Given the description of an element on the screen output the (x, y) to click on. 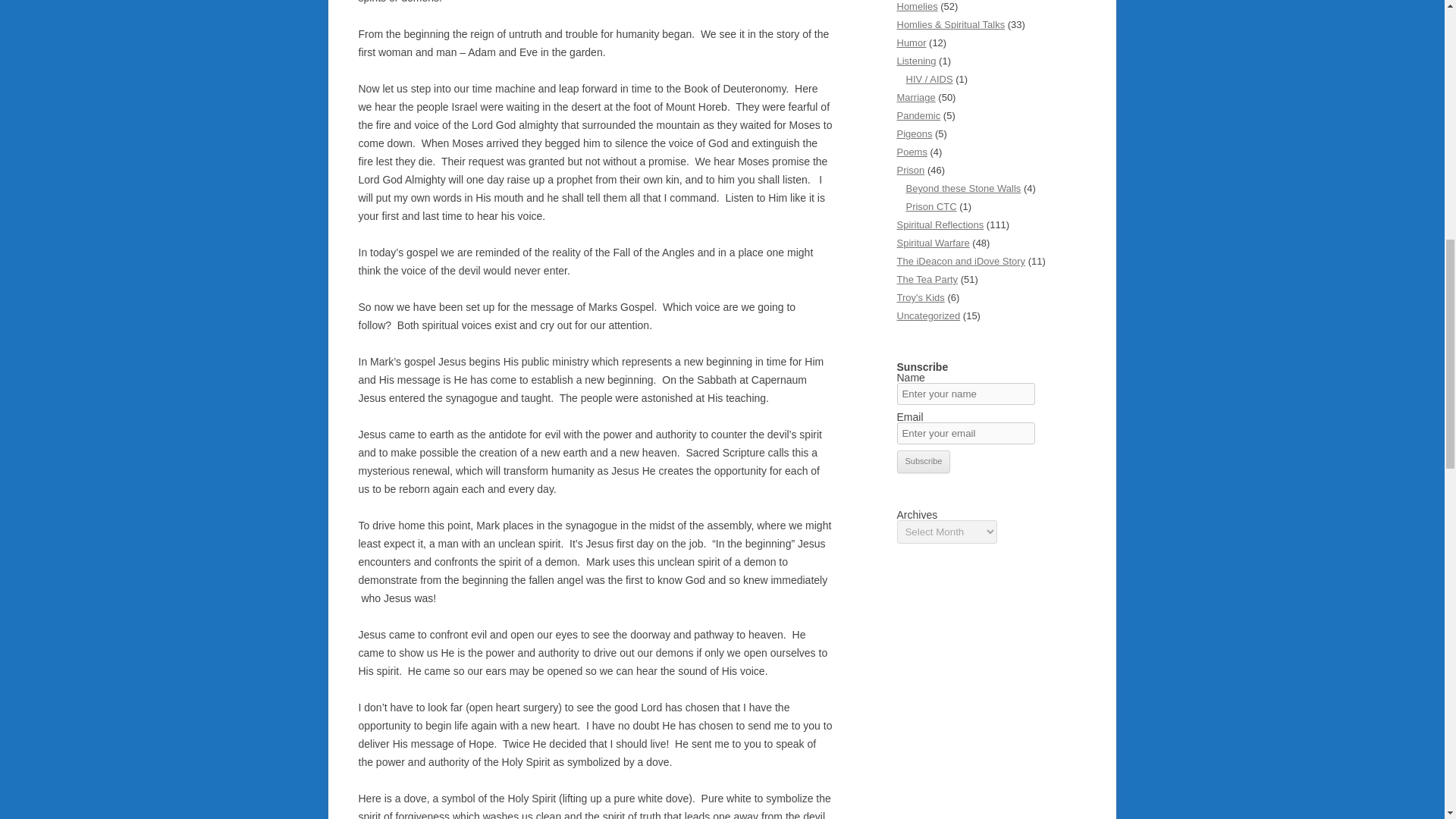
Subscribe (923, 461)
Homelies (916, 6)
